Given the description of an element on the screen output the (x, y) to click on. 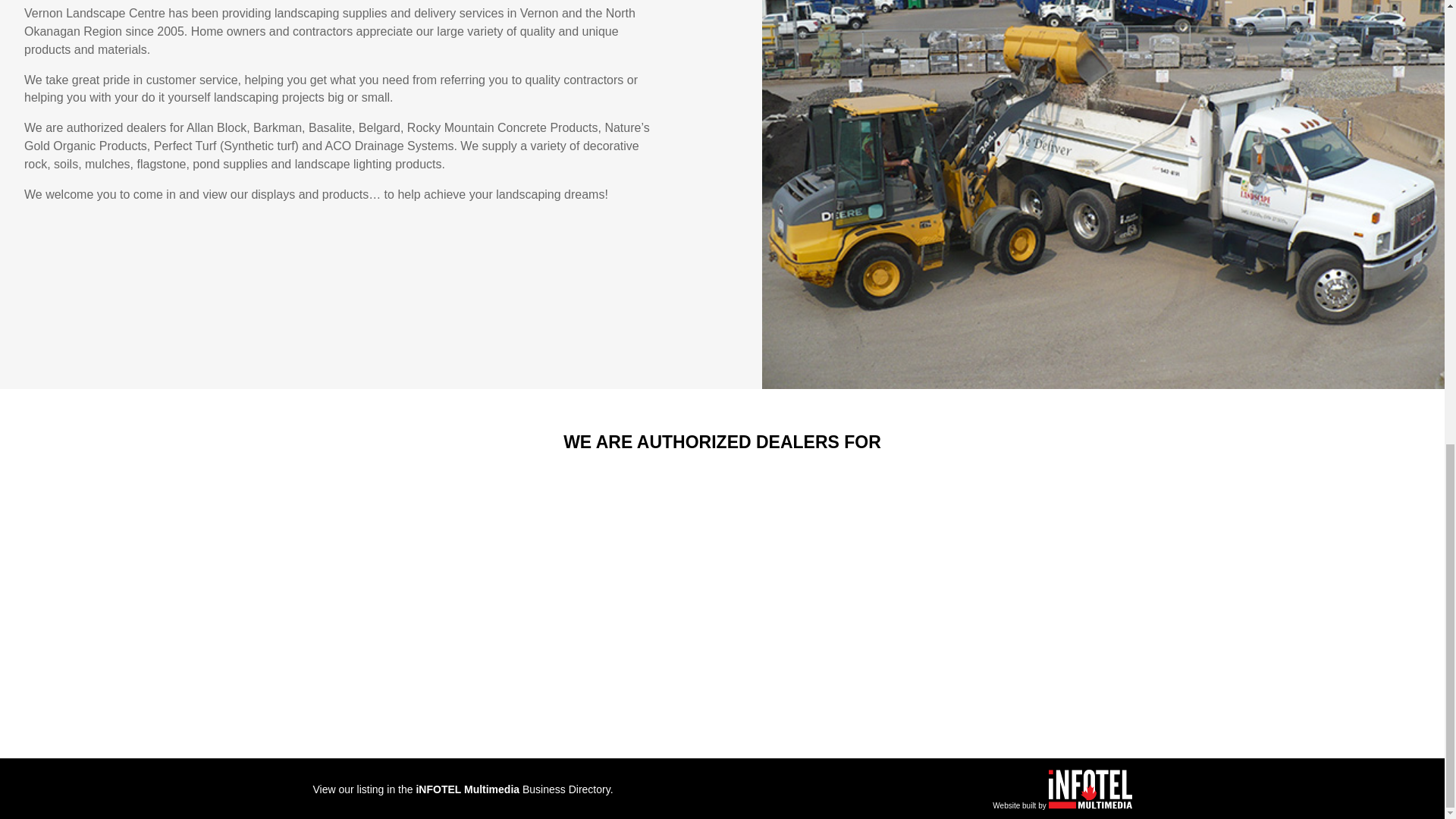
ACO (1039, 671)
OPT Synthetic Grass logo (827, 661)
basalite (614, 513)
abbot (397, 518)
barkman (617, 648)
iNFOTEL Multimedia Business Directory (512, 788)
Belgard logo (1045, 543)
block (830, 527)
natures gold (405, 652)
